Given the description of an element on the screen output the (x, y) to click on. 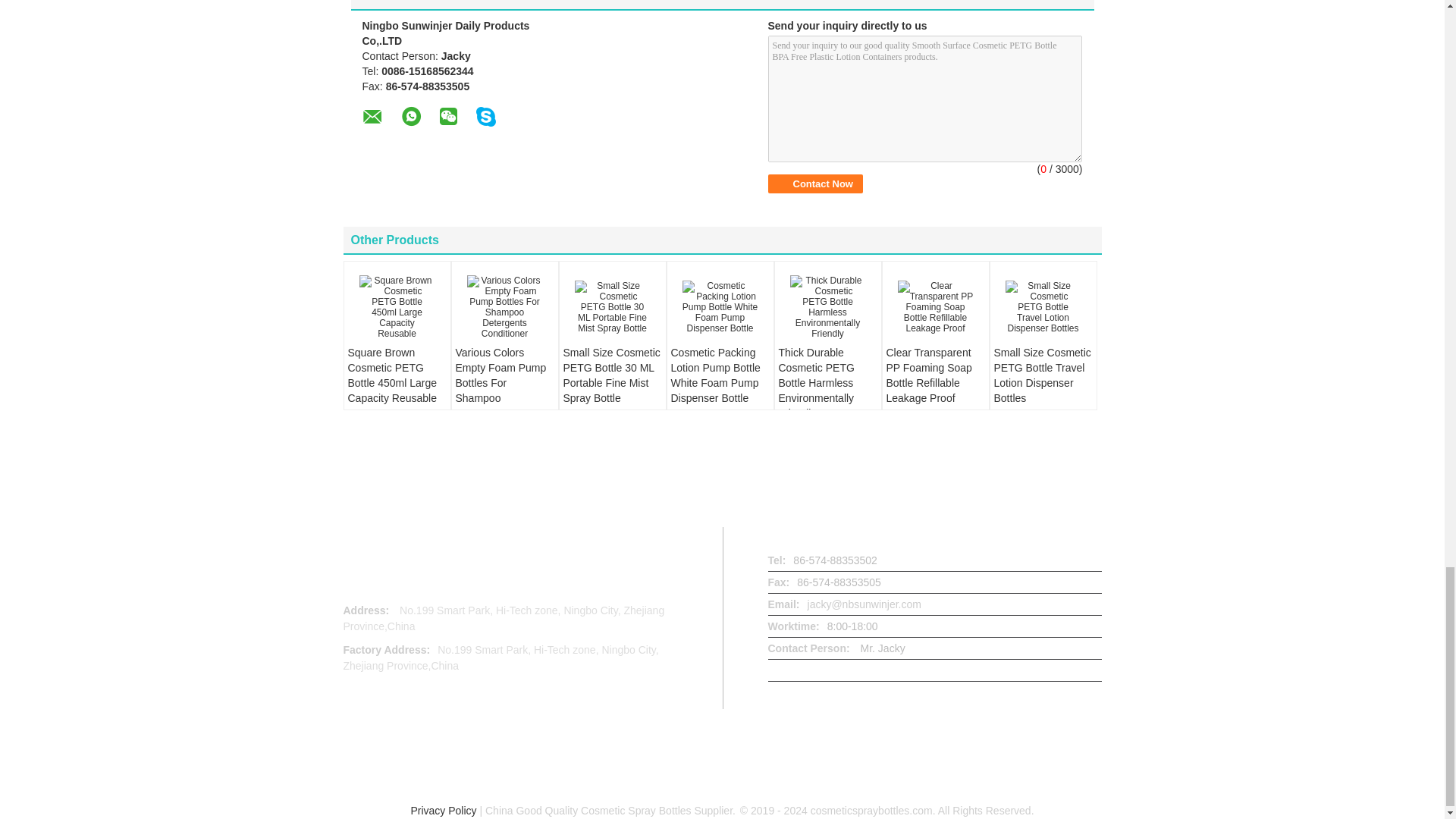
Contact Now (814, 183)
